Given the description of an element on the screen output the (x, y) to click on. 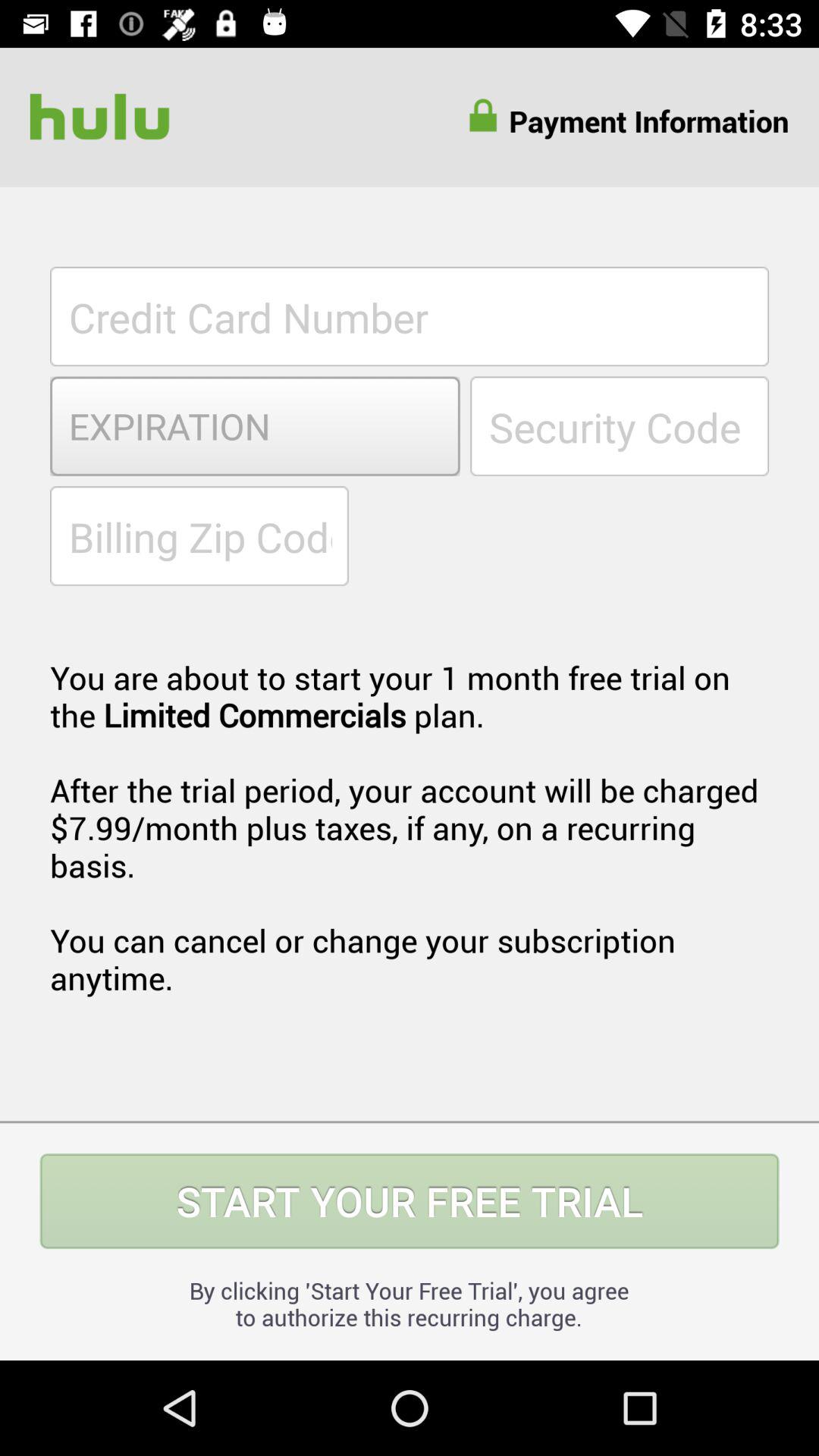
tap the icon above the you are about item (199, 535)
